Given the description of an element on the screen output the (x, y) to click on. 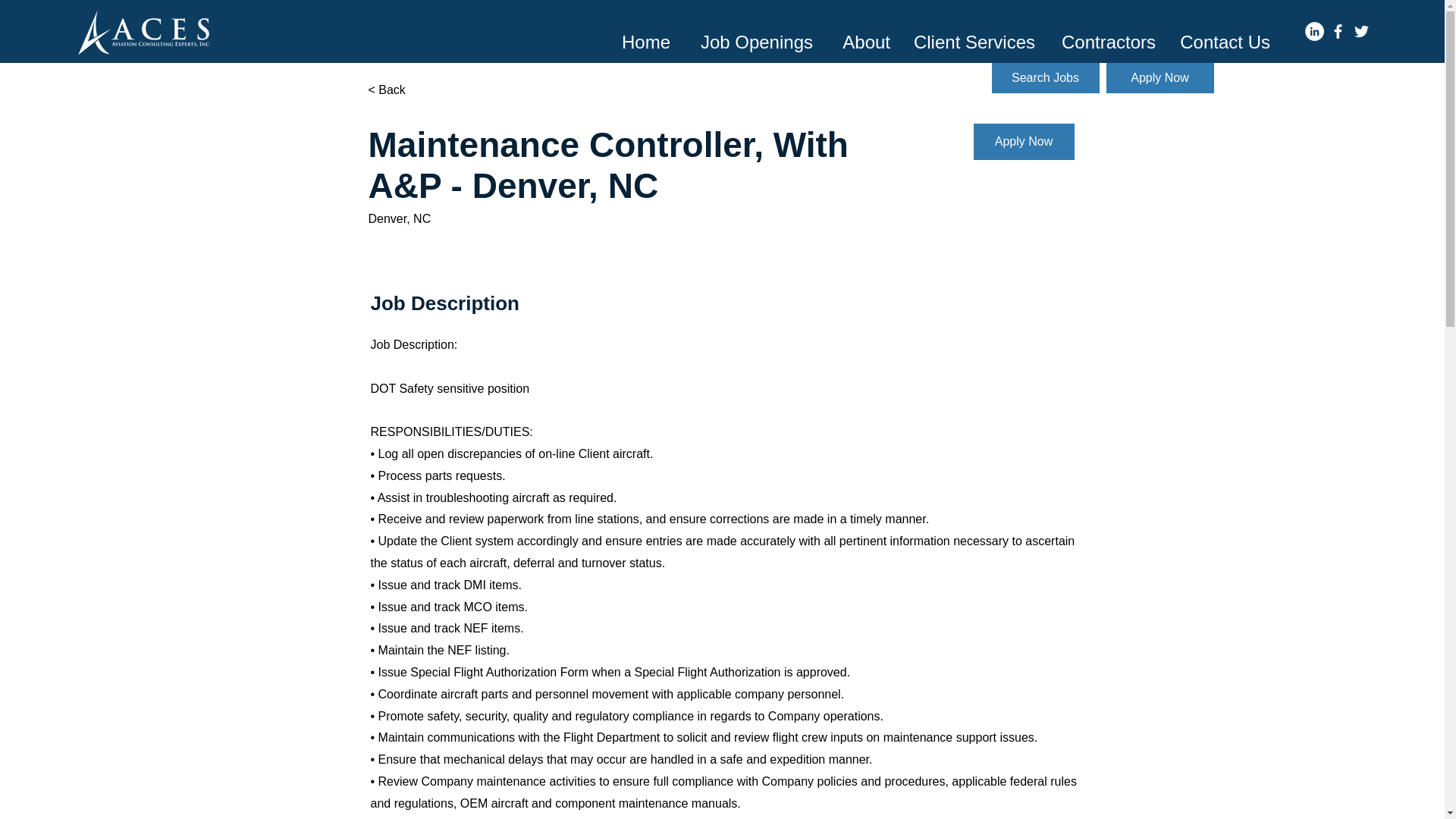
About (862, 34)
Search Jobs (1045, 78)
Apply Now (1024, 141)
Job Openings (752, 34)
Apply Now (1158, 78)
Home (643, 34)
Client Services (973, 34)
Contractors (1106, 34)
Contact Us (1224, 34)
